Given the description of an element on the screen output the (x, y) to click on. 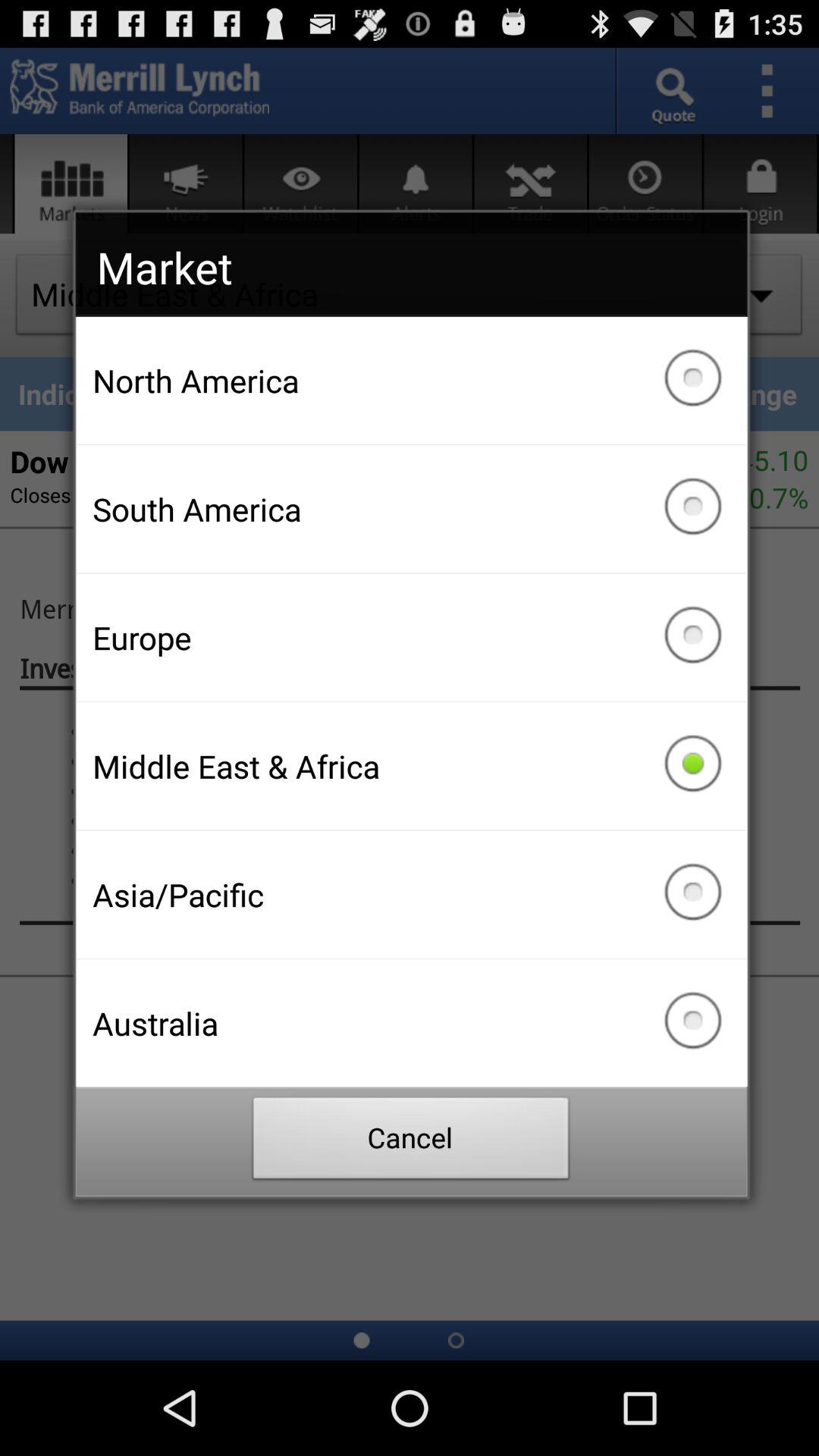
jump until cancel item (410, 1142)
